Given the description of an element on the screen output the (x, y) to click on. 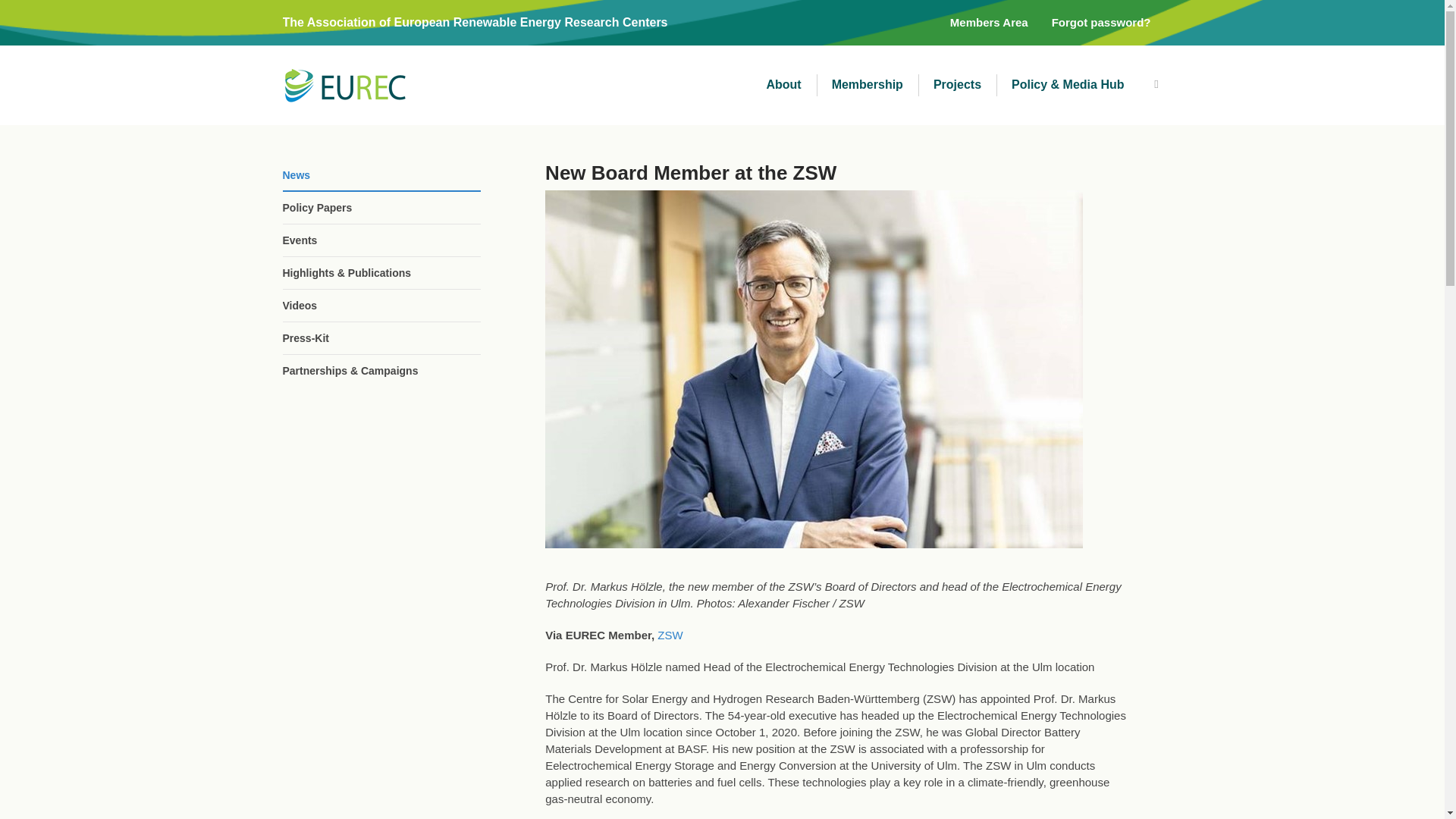
Members Area (989, 22)
News (381, 174)
Policy Papers (381, 207)
ZSW (670, 634)
Forgot password? (1101, 22)
Projects (956, 85)
Membership (867, 85)
